Given the description of an element on the screen output the (x, y) to click on. 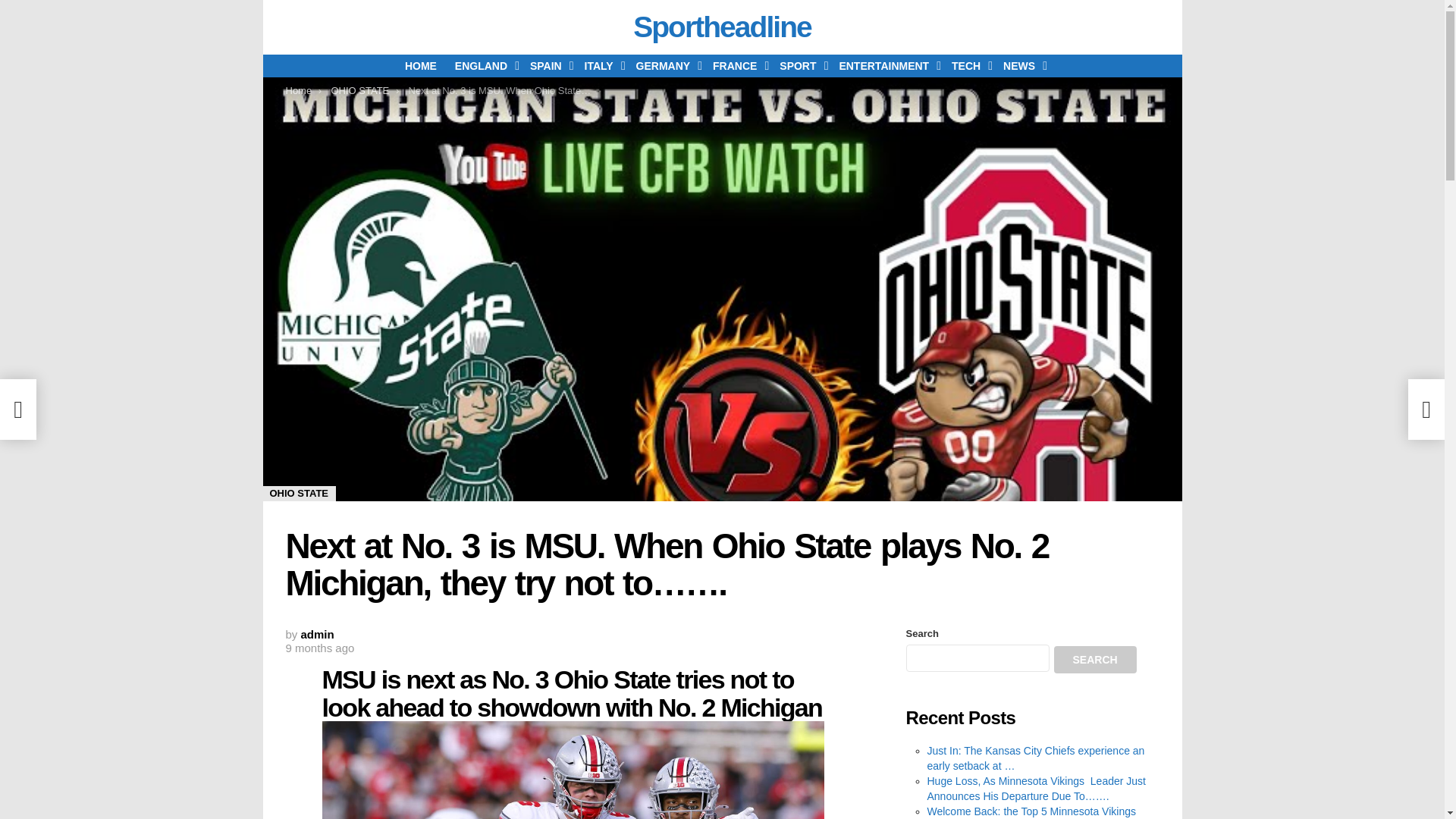
Posts by admin (317, 634)
November 10, 2023, 4:07 pm (319, 648)
GERMANY (665, 65)
HOME (420, 65)
SPAIN (547, 65)
ITALY (601, 65)
ENGLAND (482, 65)
Sportheadline (721, 26)
